Given the description of an element on the screen output the (x, y) to click on. 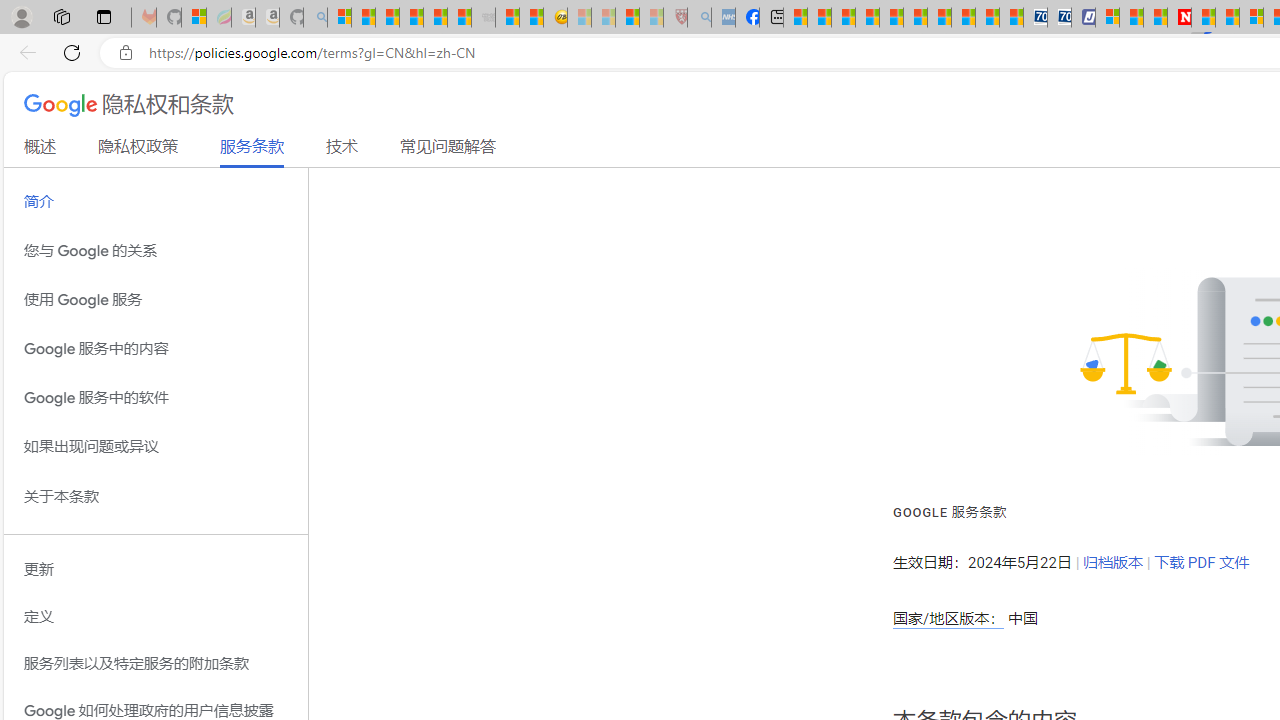
World - MSN (843, 17)
Climate Damage Becomes Too Severe To Reverse (867, 17)
